Given the description of an element on the screen output the (x, y) to click on. 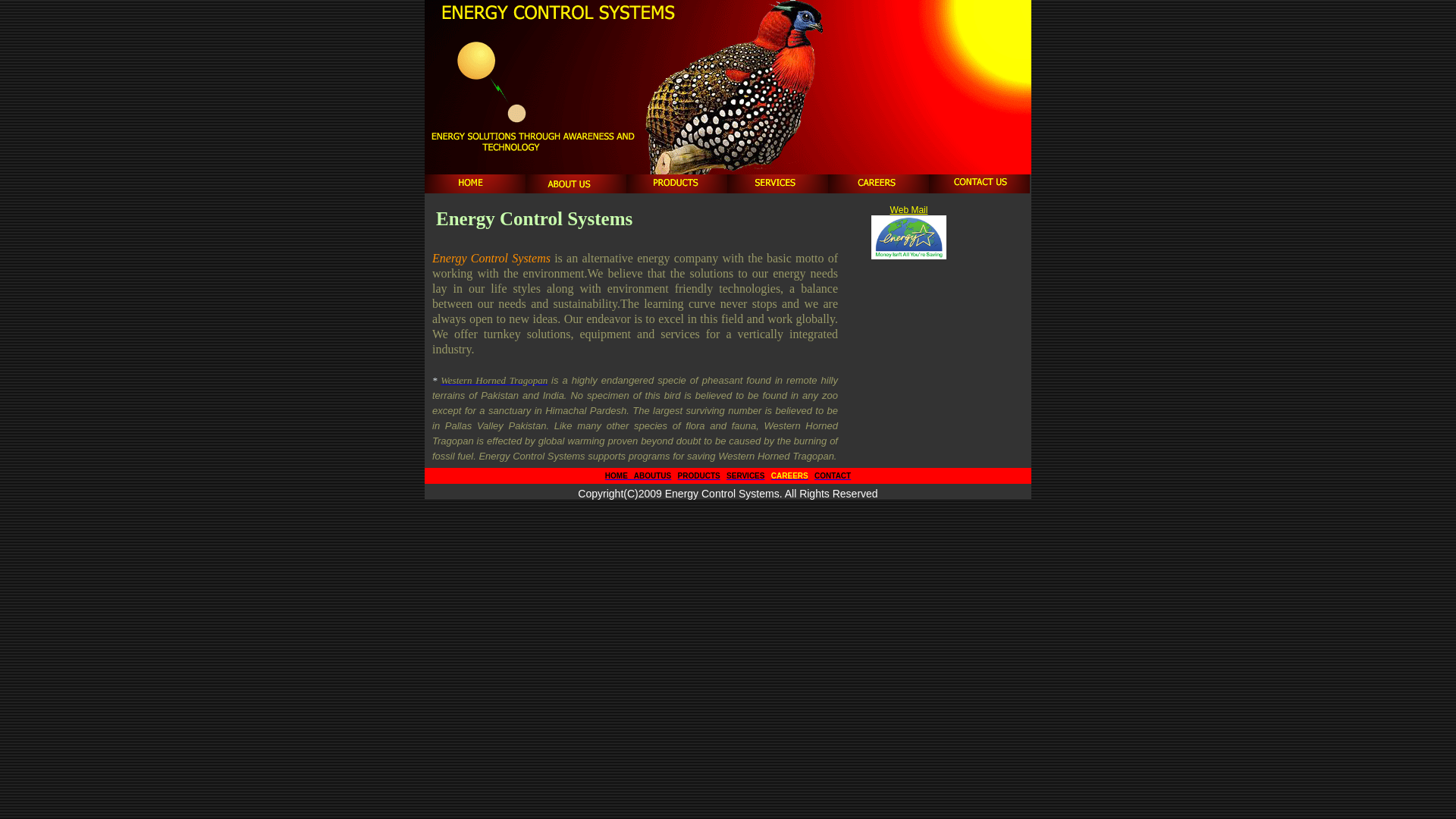
ABOUTUS Element type: text (651, 475)
PRODUCTS Element type: text (698, 475)
Web Mail Element type: text (909, 209)
CAREERS Element type: text (789, 475)
Western Horned Tragopan Element type: text (493, 379)
CONTACT Element type: text (832, 475)
SERVICES Element type: text (745, 475)
HOME   Element type: text (618, 475)
